Given the description of an element on the screen output the (x, y) to click on. 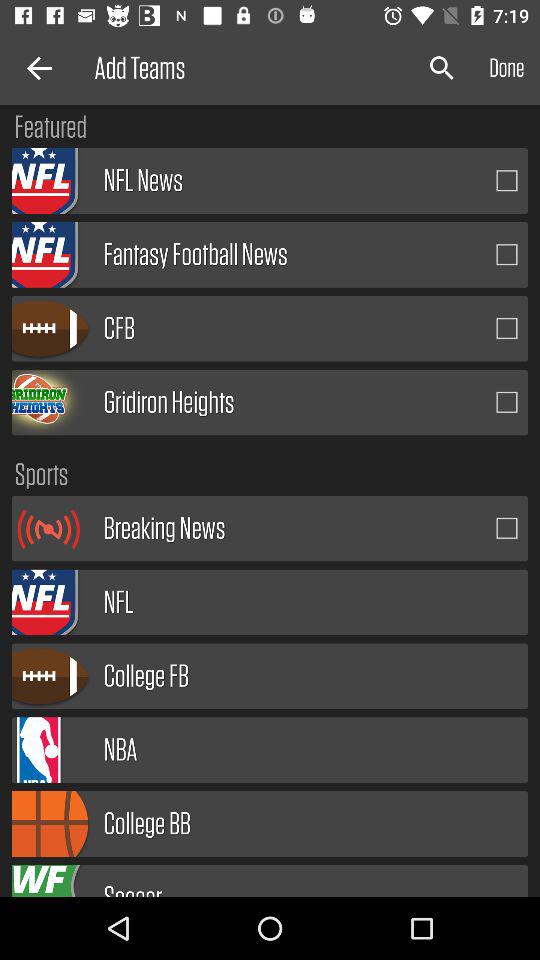
add gridiron heights team to your highlights (507, 402)
